Given the description of an element on the screen output the (x, y) to click on. 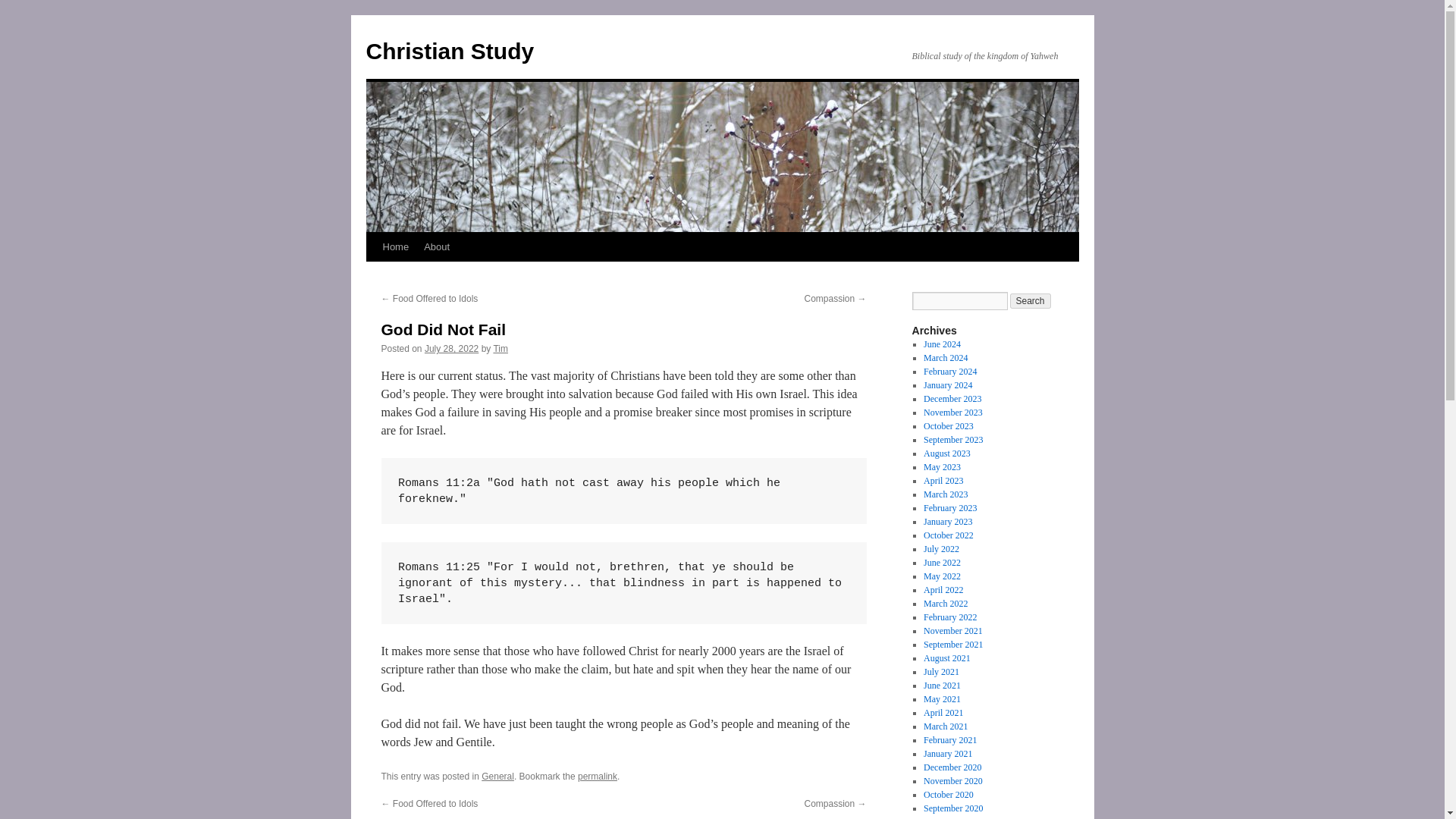
August 2021 (947, 657)
August 2023 (947, 452)
May 2021 (941, 698)
June 2021 (941, 685)
March 2022 (945, 603)
Christian Study (449, 50)
June 2022 (941, 562)
July 28, 2022 (452, 348)
November 2021 (952, 630)
February 2024 (949, 371)
Tim (500, 348)
March 2024 (945, 357)
July 2022 (941, 548)
February 2023 (949, 507)
September 2021 (952, 644)
